Given the description of an element on the screen output the (x, y) to click on. 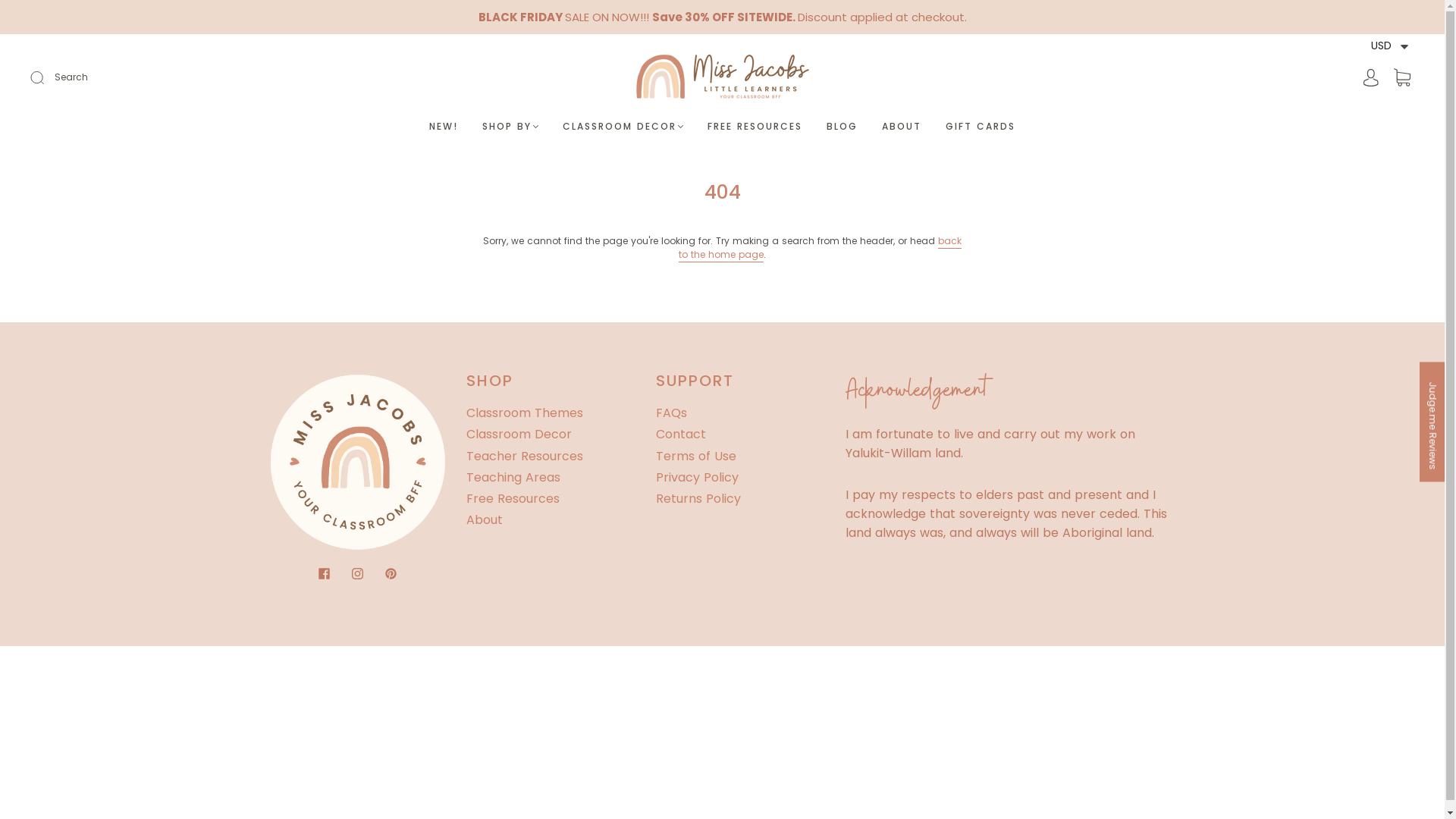
Teacher Resources Element type: text (523, 455)
Terms of Use Element type: text (695, 455)
Contact Element type: text (680, 433)
Privacy Policy Element type: text (696, 477)
NEW! Element type: text (443, 125)
ABOUT Element type: text (901, 125)
BLOG Element type: text (841, 125)
About Element type: text (483, 519)
FAQs Element type: text (670, 412)
Classroom Themes Element type: text (523, 412)
Teaching Areas Element type: text (512, 477)
back to the home page Element type: text (819, 248)
FREE RESOURCES Element type: text (754, 125)
Free Resources Element type: text (511, 498)
SHOP BY Element type: text (510, 125)
GIFT CARDS Element type: text (980, 125)
Returns Policy Element type: text (697, 498)
CLASSROOM DECOR Element type: text (622, 125)
Classroom Decor Element type: text (518, 433)
